Given the description of an element on the screen output the (x, y) to click on. 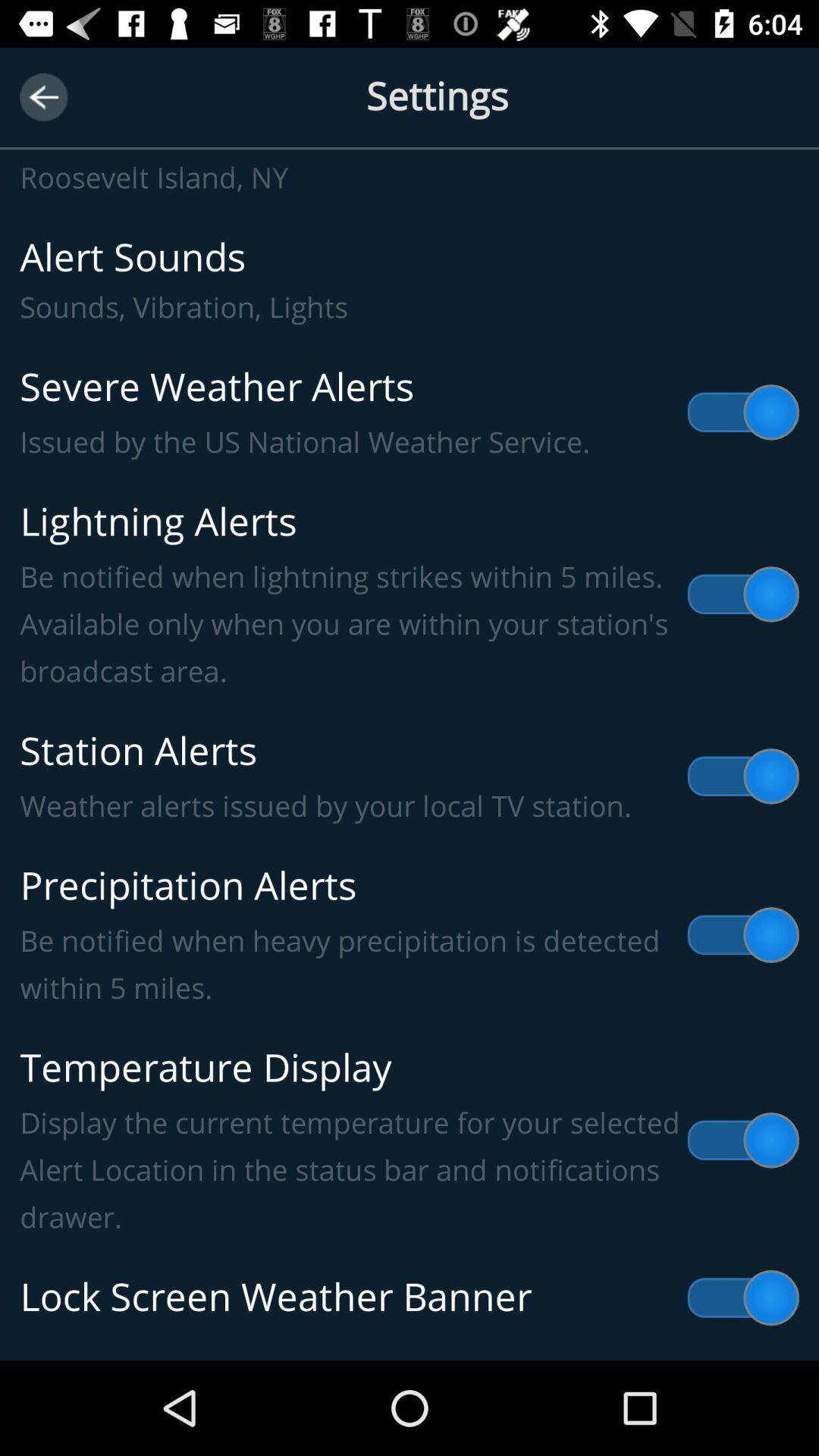
jump to alert sounds sounds (409, 280)
